Given the description of an element on the screen output the (x, y) to click on. 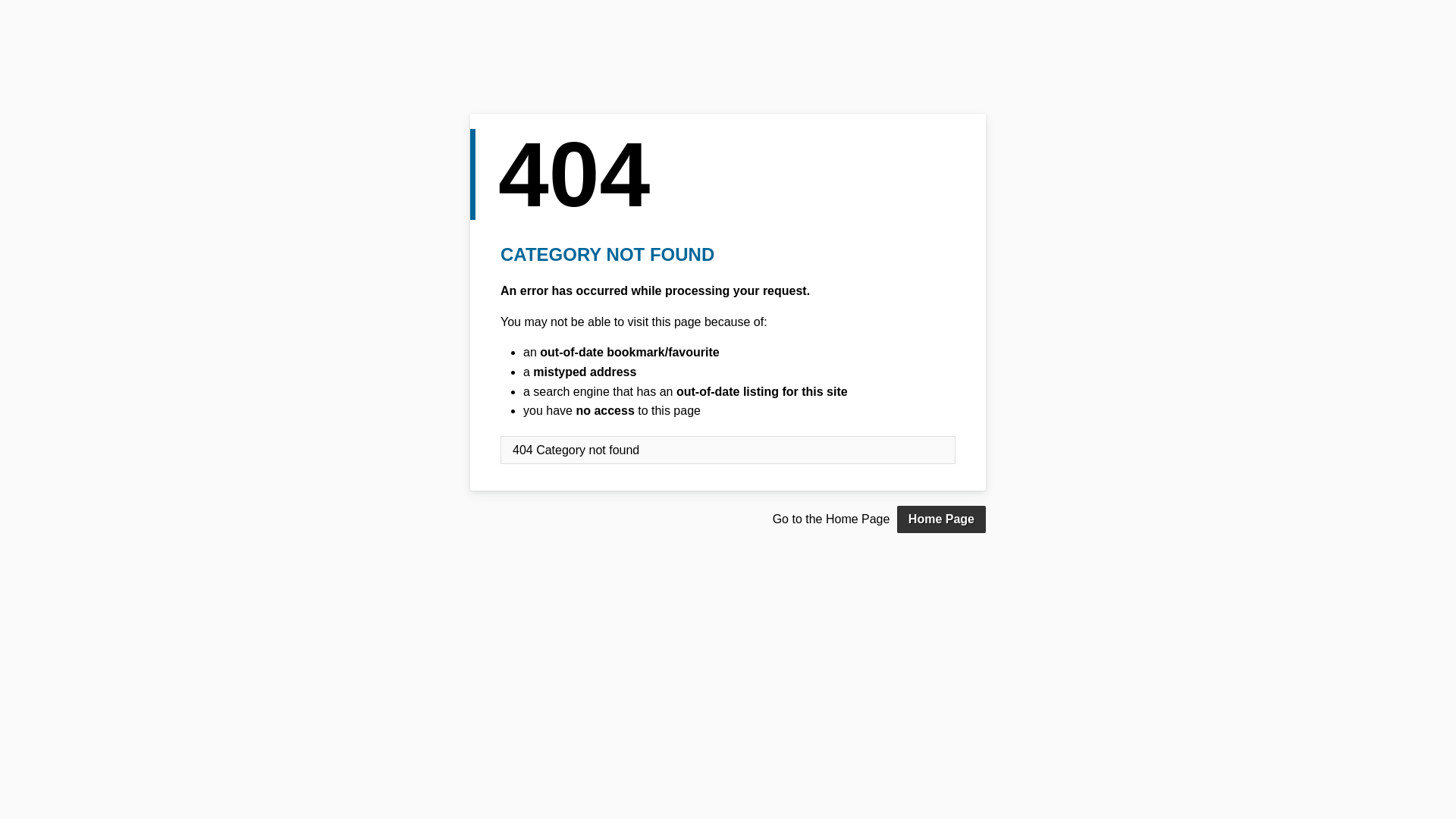
Home Page Element type: text (941, 519)
